Given the description of an element on the screen output the (x, y) to click on. 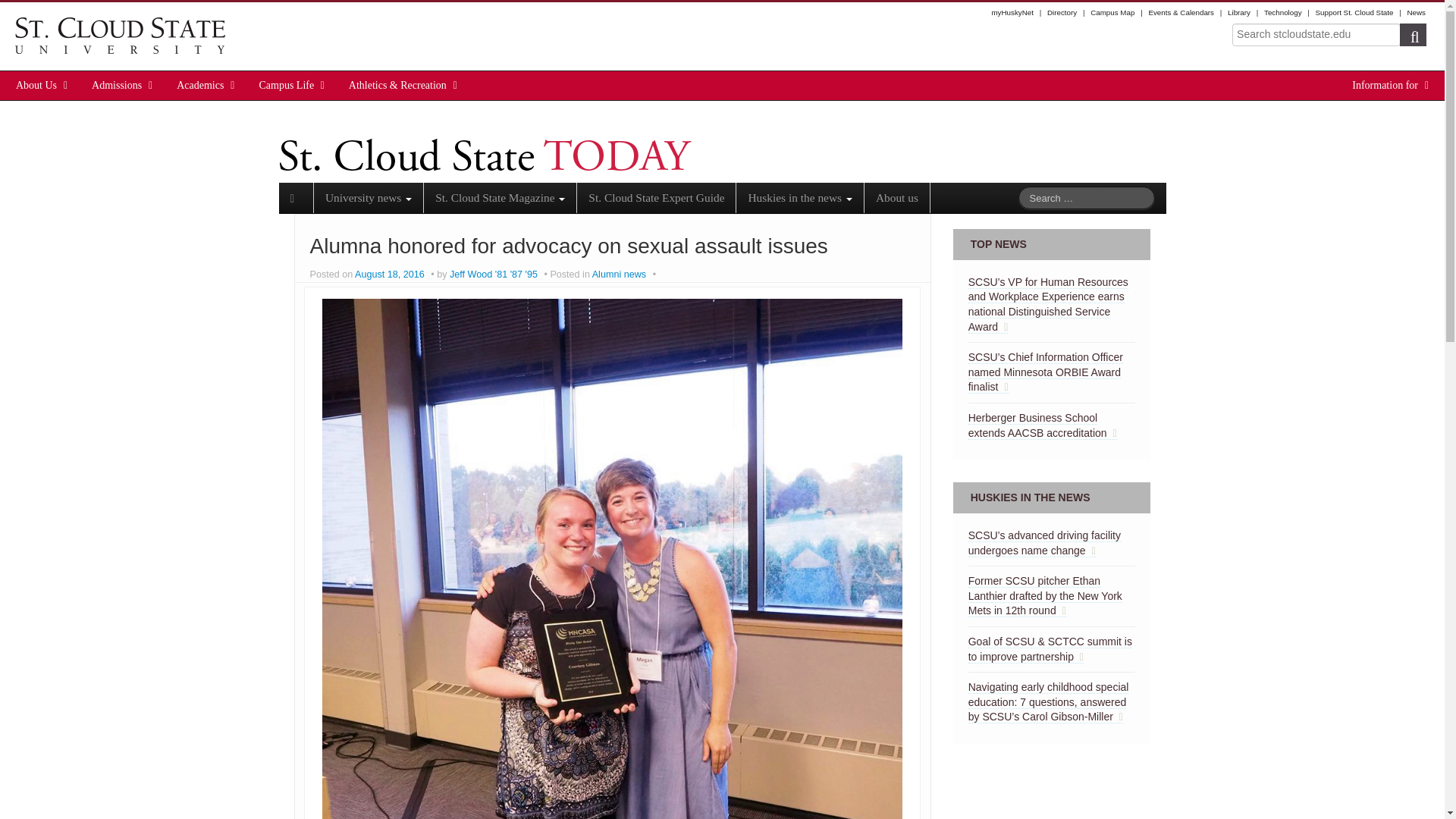
Campus Life (286, 85)
About Us (36, 85)
1:36 pm (390, 274)
Search stcloudstate.edu (1315, 34)
Search stcloudstate.edu (1315, 34)
Academics (199, 85)
View all posts by Jeff Wood '81 '87 '95 (493, 274)
Admissions (116, 85)
